Given the description of an element on the screen output the (x, y) to click on. 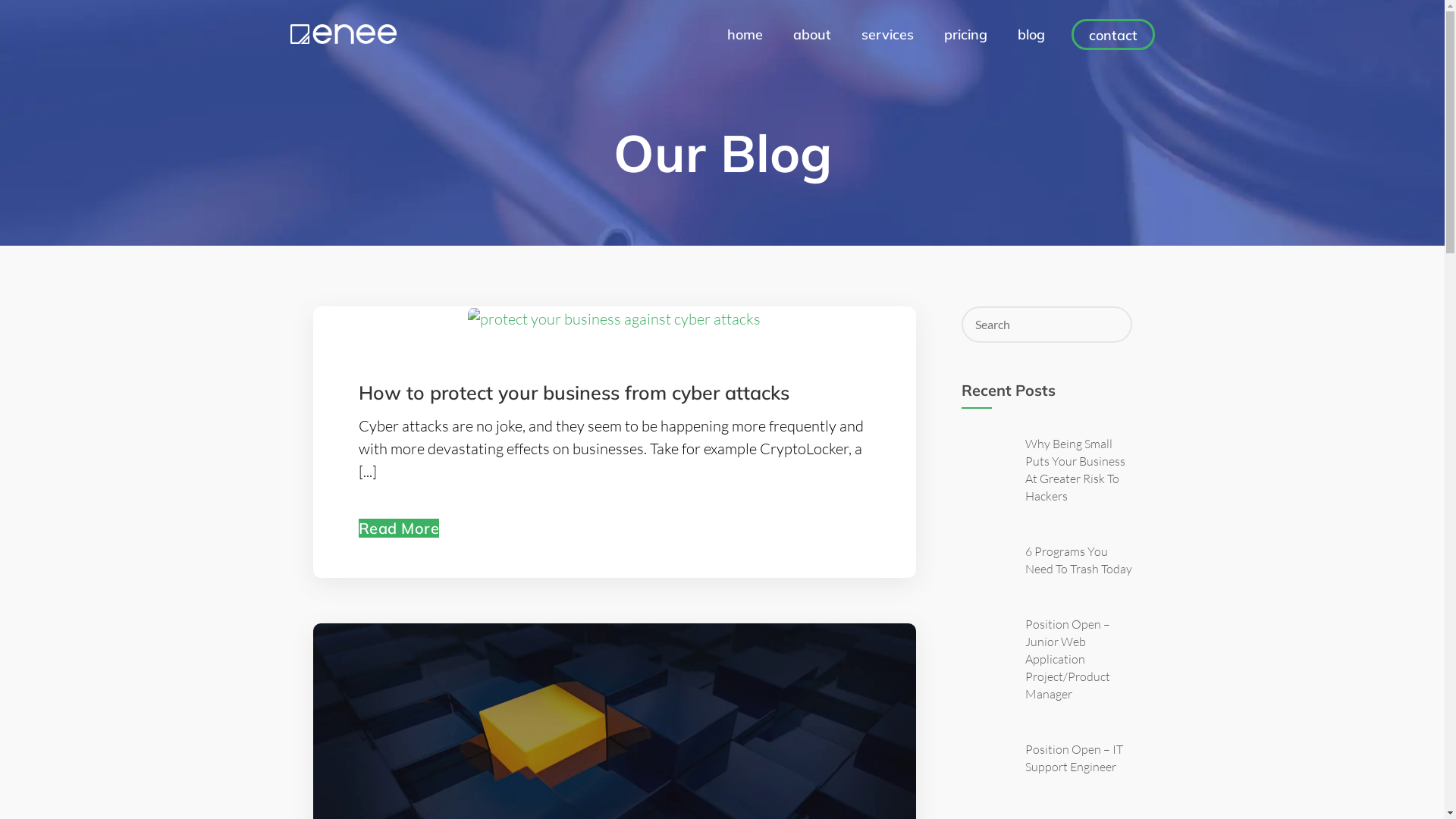
contact Element type: text (1112, 34)
home Element type: text (744, 34)
pricing Element type: text (964, 34)
Read More Element type: text (398, 527)
How to protect your business from cyber attacks Element type: text (572, 394)
about Element type: text (812, 34)
blog Element type: text (1030, 34)
services Element type: text (887, 34)
6 Programs You Need To Trash Today Element type: text (1078, 559)
